Given the description of an element on the screen output the (x, y) to click on. 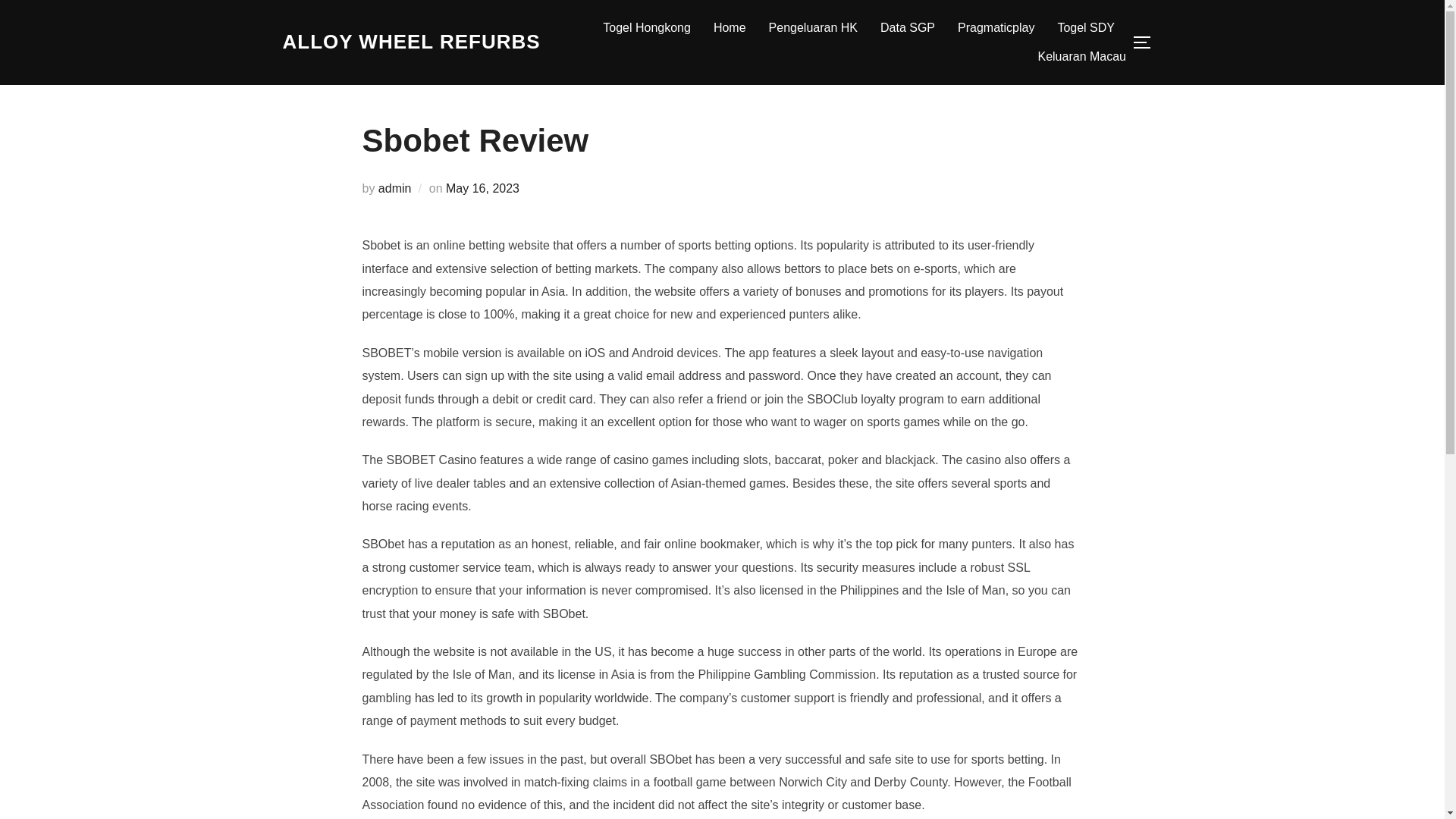
Keluaran Macau (1080, 56)
admin (395, 187)
Togel SDY (1086, 27)
Data SGP (907, 27)
ALLOY WHEEL REFURBS (411, 41)
Togel Hongkong (646, 27)
Pragmaticplay (995, 27)
May 16, 2023 (482, 187)
Pengeluaran HK (812, 27)
Home (729, 27)
